Given the description of an element on the screen output the (x, y) to click on. 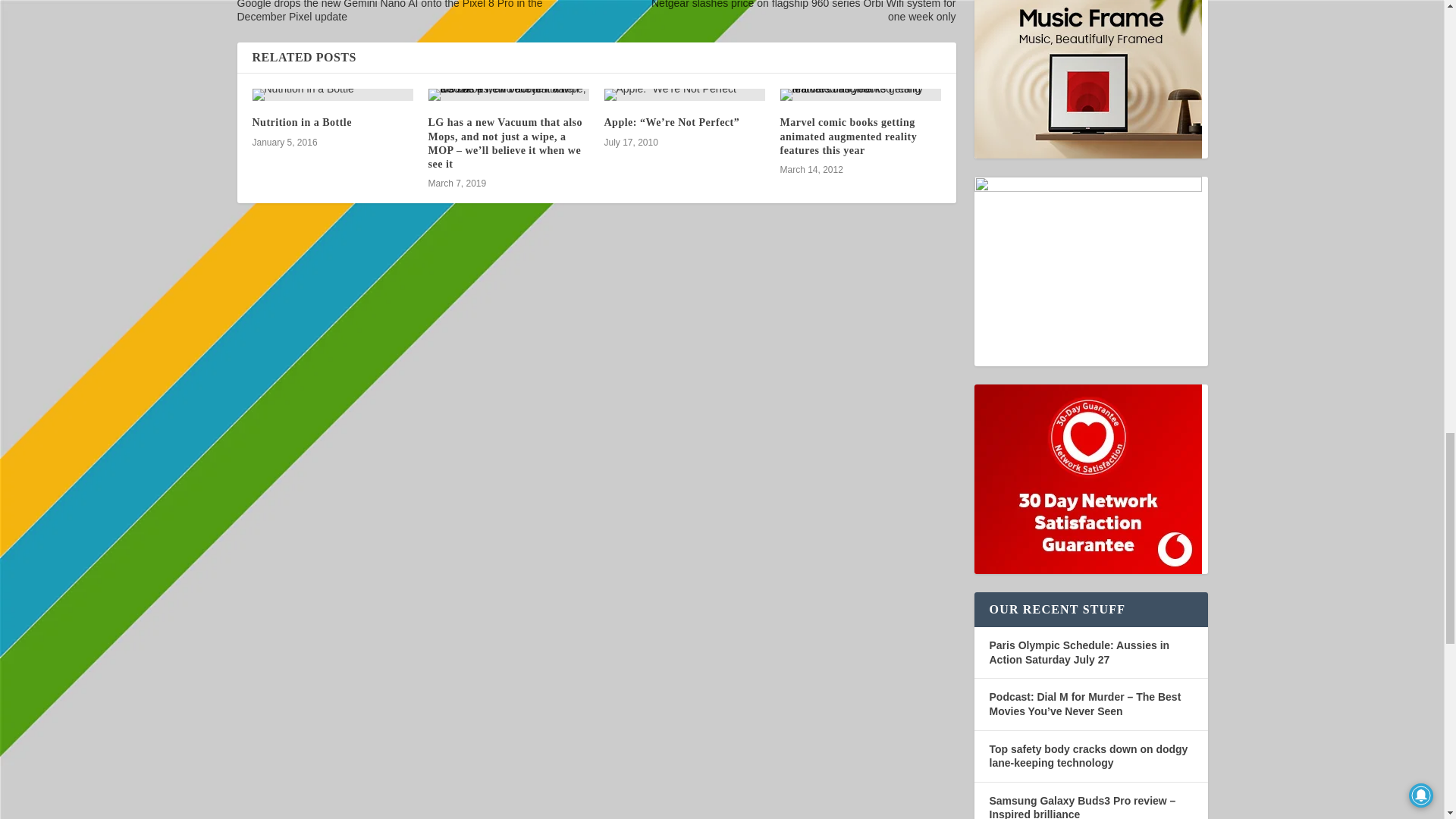
Nutrition in a Bottle (331, 94)
